Given the description of an element on the screen output the (x, y) to click on. 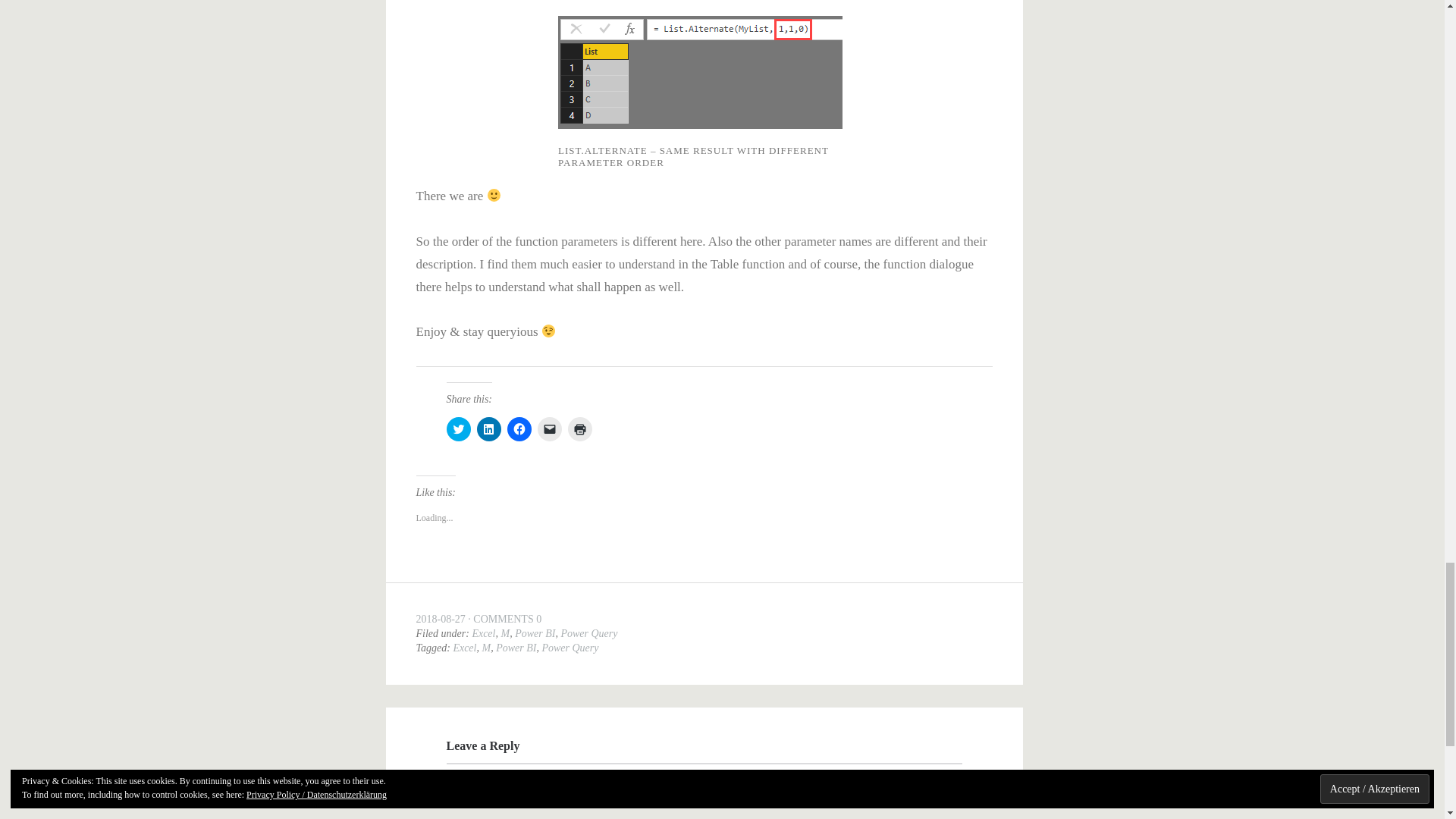
Click to share on Facebook (518, 428)
Click to share on Twitter (457, 428)
Click to print (579, 428)
Click to email a link to a friend (548, 428)
Click to share on LinkedIn (488, 428)
